Given the description of an element on the screen output the (x, y) to click on. 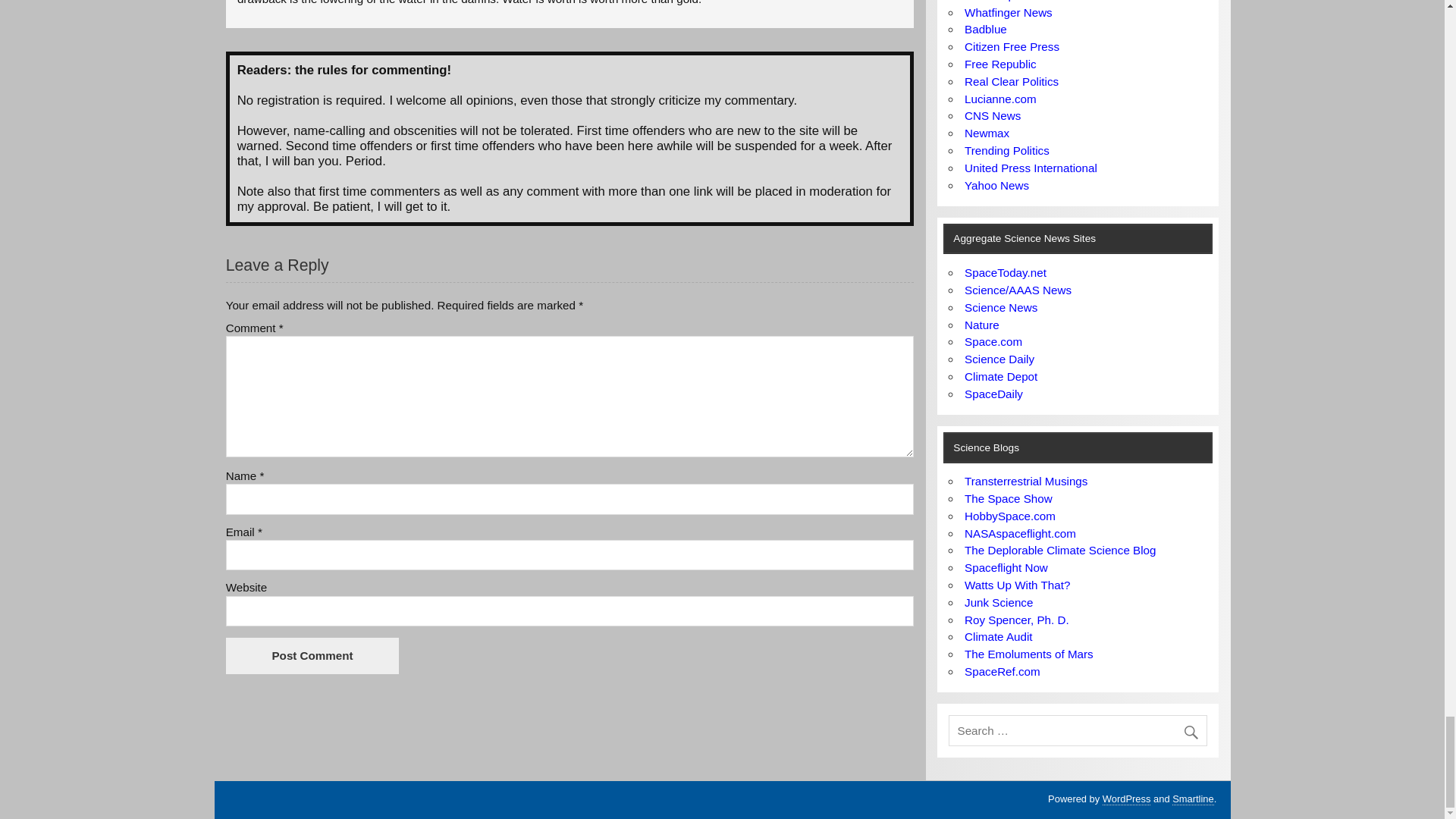
Post Comment (311, 655)
News feed of space related stories on the web (1004, 272)
